Given the description of an element on the screen output the (x, y) to click on. 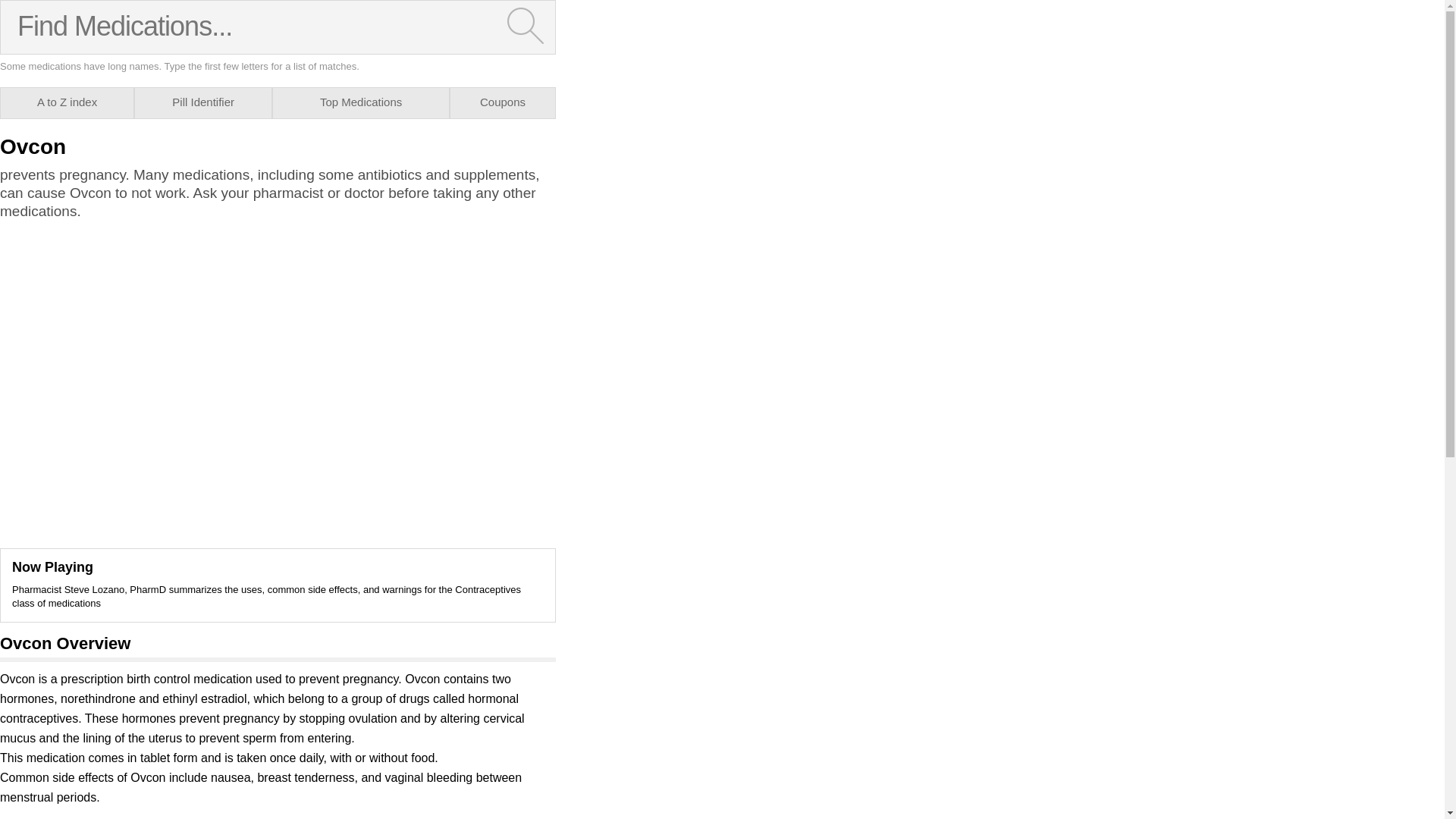
Coupons (501, 102)
Top Medications (360, 102)
A to Z index (67, 102)
Pill Identifier (202, 102)
